Given the description of an element on the screen output the (x, y) to click on. 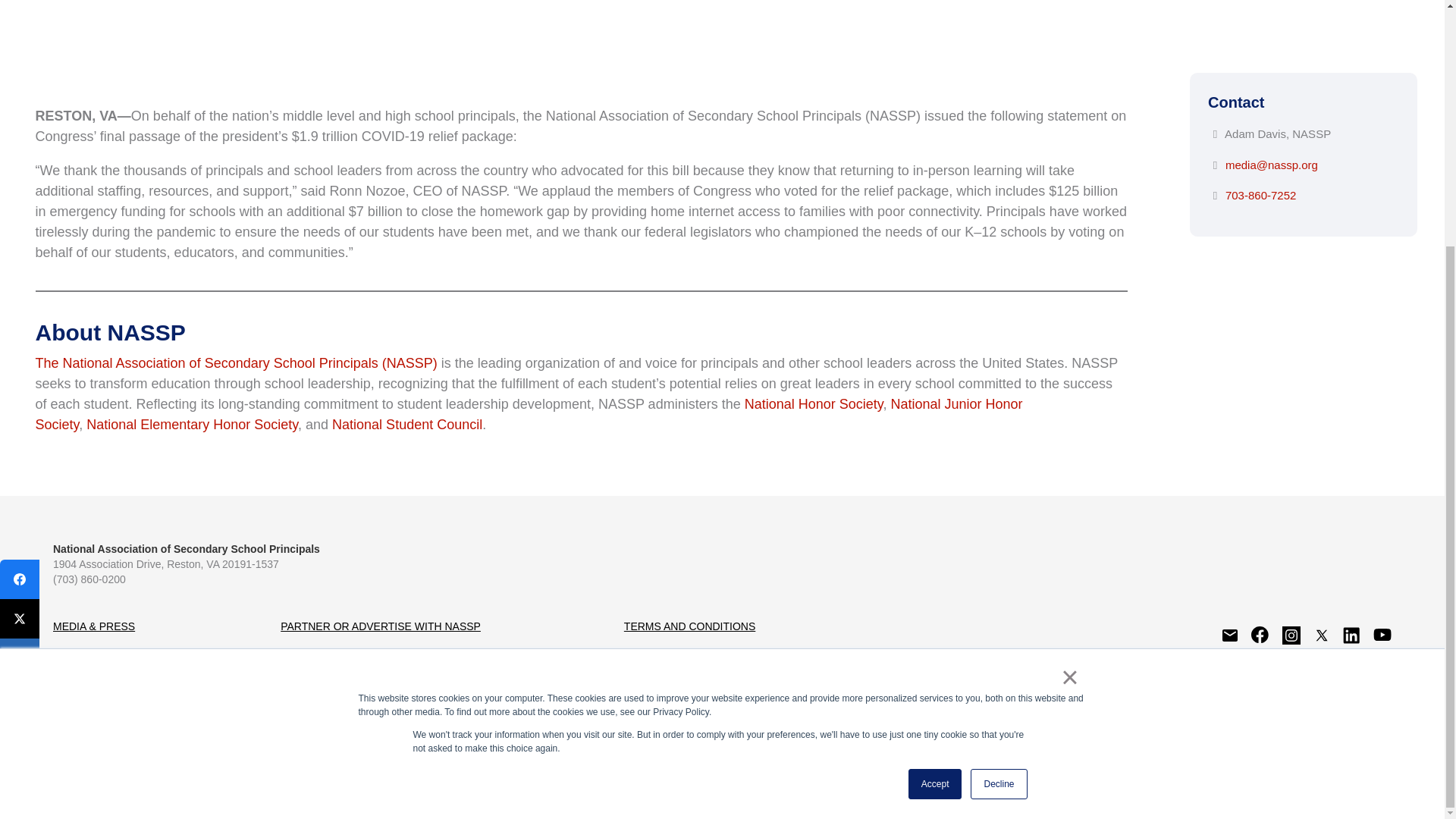
Decline (998, 440)
Accept (935, 440)
